Given the description of an element on the screen output the (x, y) to click on. 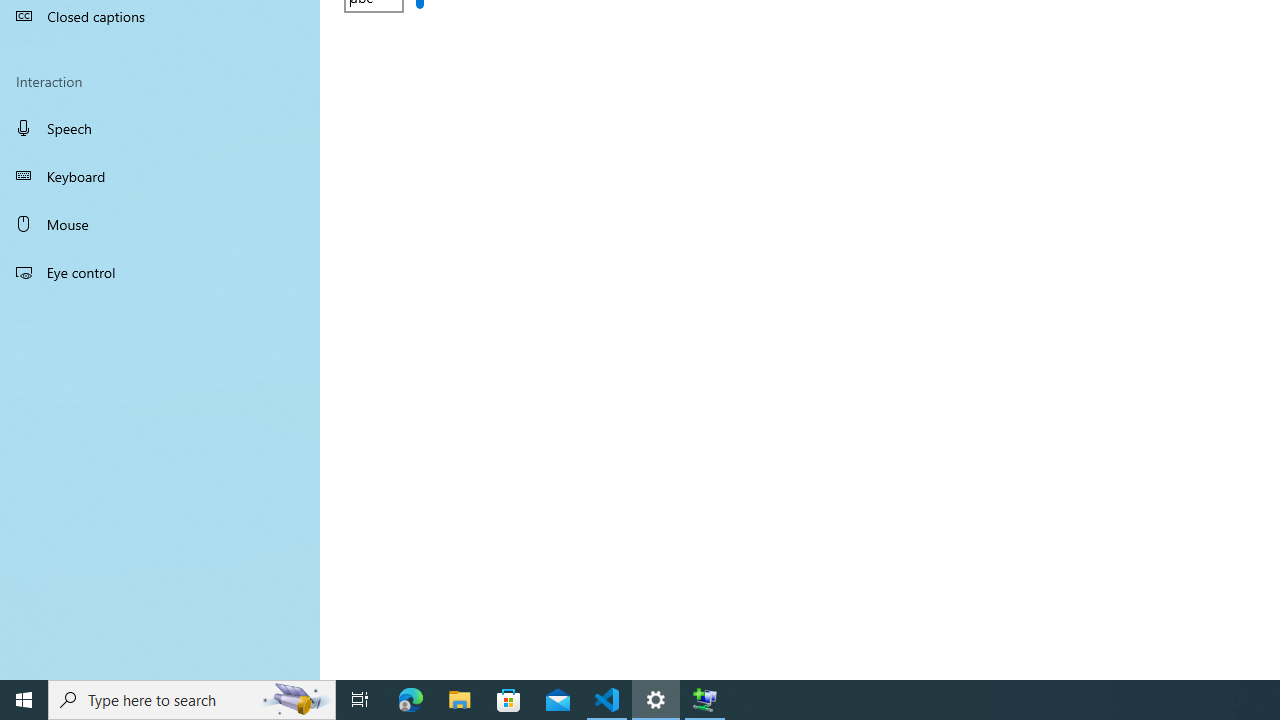
Eye control (160, 271)
Keyboard (160, 175)
Extensible Wizards Host Process - 1 running window (704, 699)
Speech (160, 127)
Mouse (160, 223)
